Given the description of an element on the screen output the (x, y) to click on. 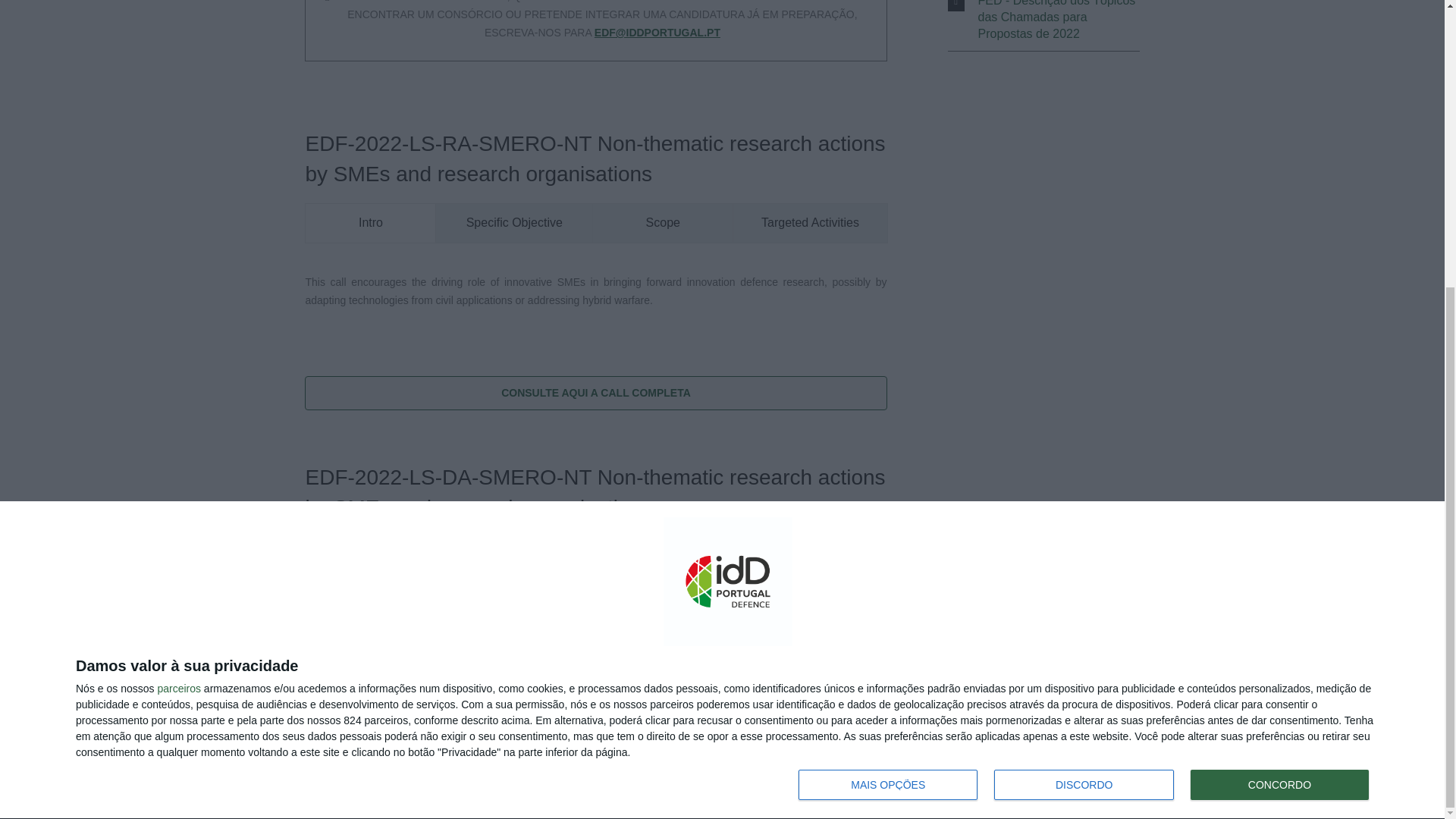
DISCORDO (1083, 349)
parceiros (178, 253)
CONCORDO (1279, 349)
